Given the description of an element on the screen output the (x, y) to click on. 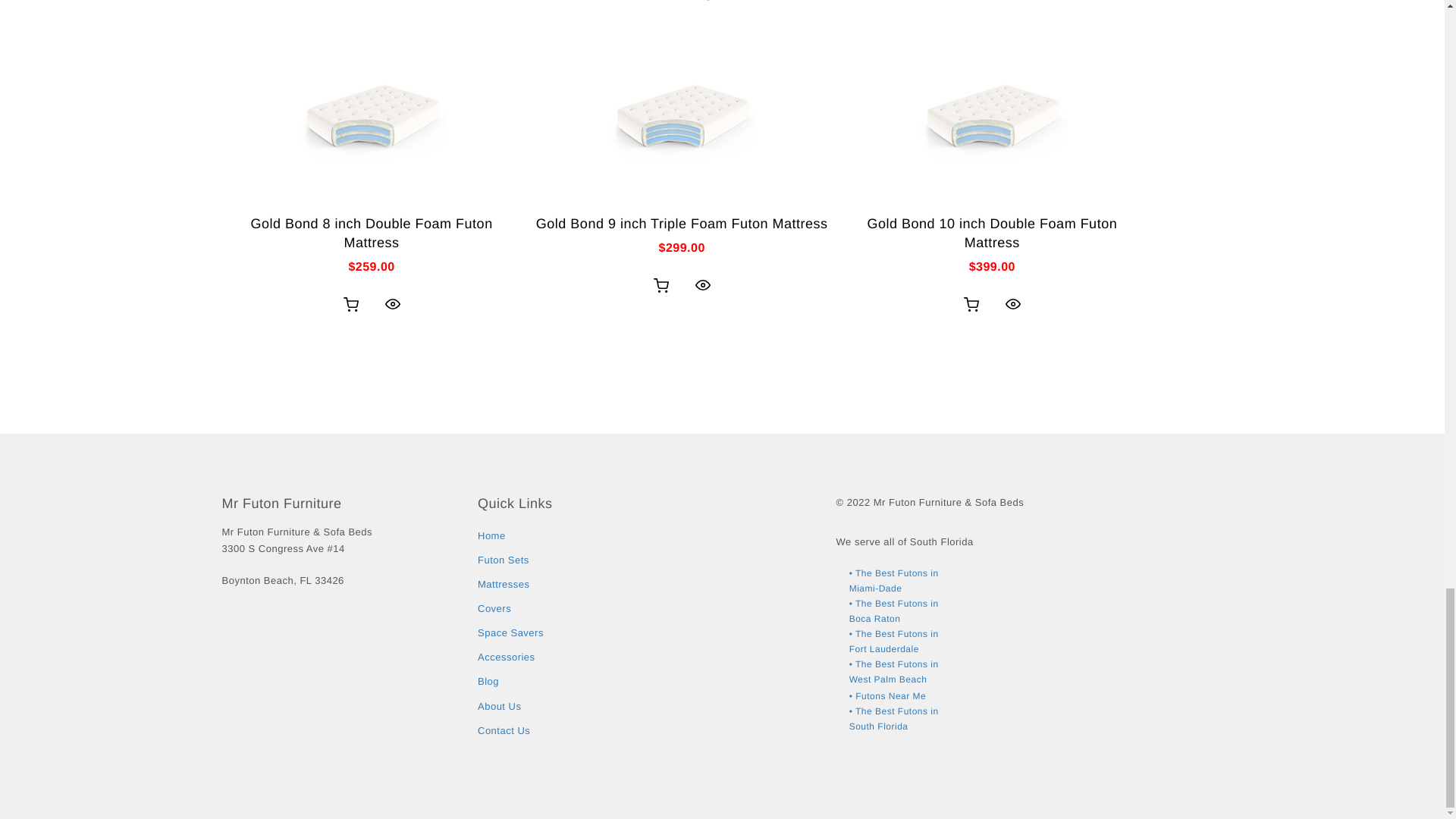
Add to cart (661, 286)
Quick View (392, 303)
Add to cart (971, 304)
Quick View (702, 285)
Add to cart (351, 304)
